Given the description of an element on the screen output the (x, y) to click on. 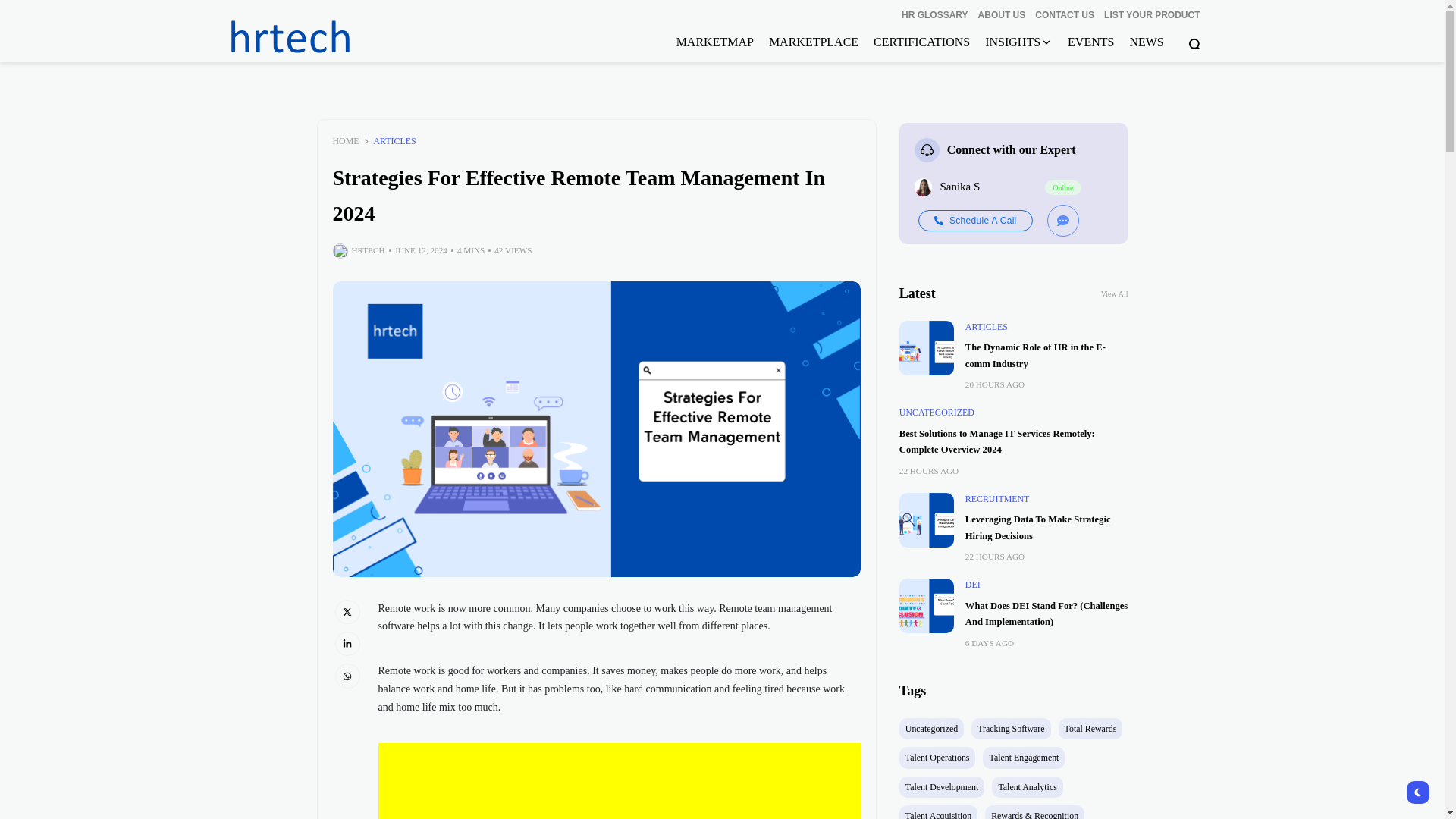
HR GLOSSARY (934, 14)
CONTACT US (1064, 14)
hrtech blogs (333, 36)
NEWS (1146, 42)
Posts by hrtech (368, 250)
INSIGHTS (1018, 42)
Advertisement (708, 780)
EVENTS (1090, 42)
MARKETMAP (715, 42)
CERTIFICATIONS (921, 42)
LIST YOUR PRODUCT (1151, 14)
ABOUT US (1002, 14)
MARKETPLACE (813, 42)
